Given the description of an element on the screen output the (x, y) to click on. 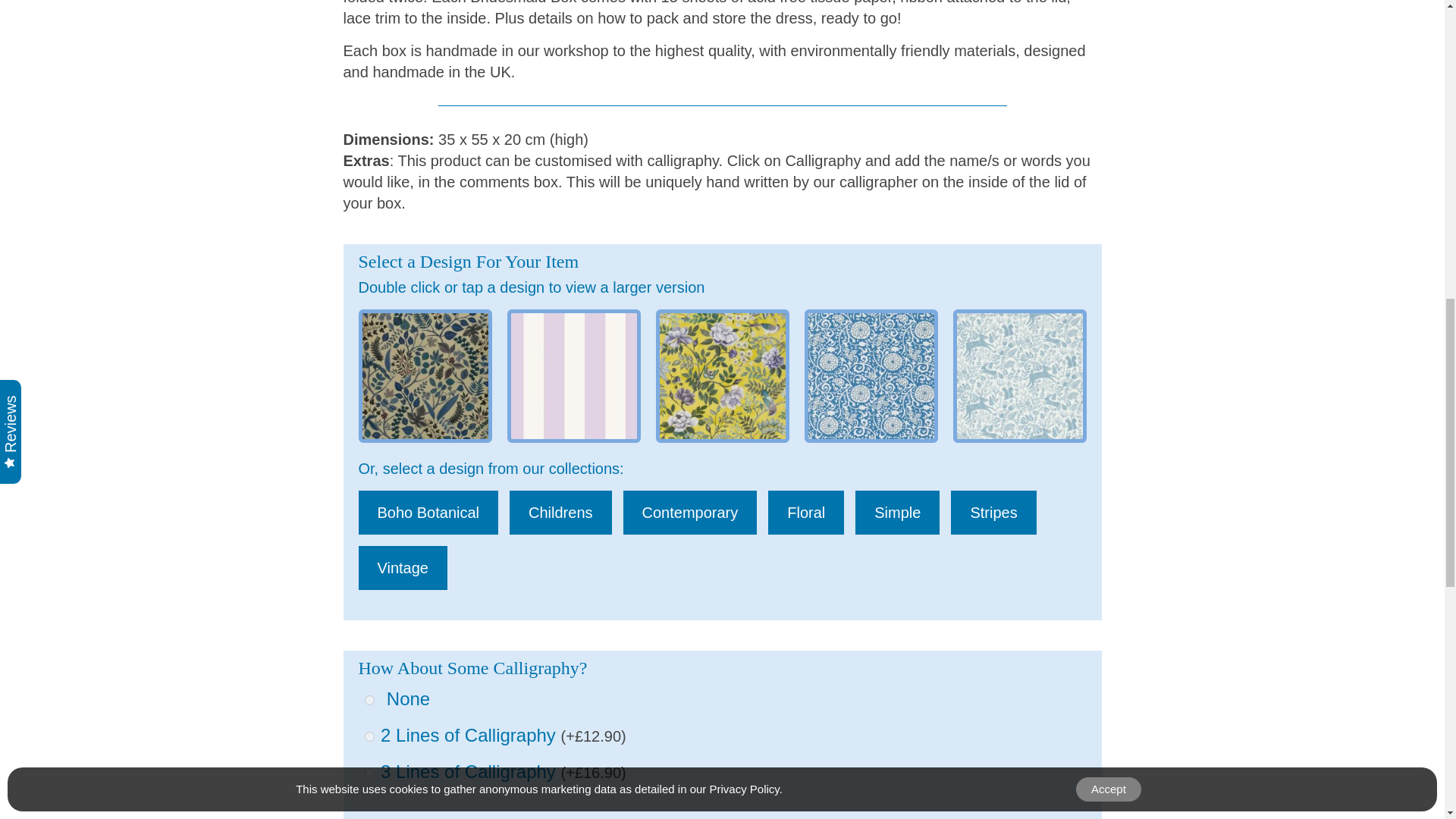
3-lines-of-calligraphy (369, 773)
2-lines-of-calligraphy (369, 737)
